Given the description of an element on the screen output the (x, y) to click on. 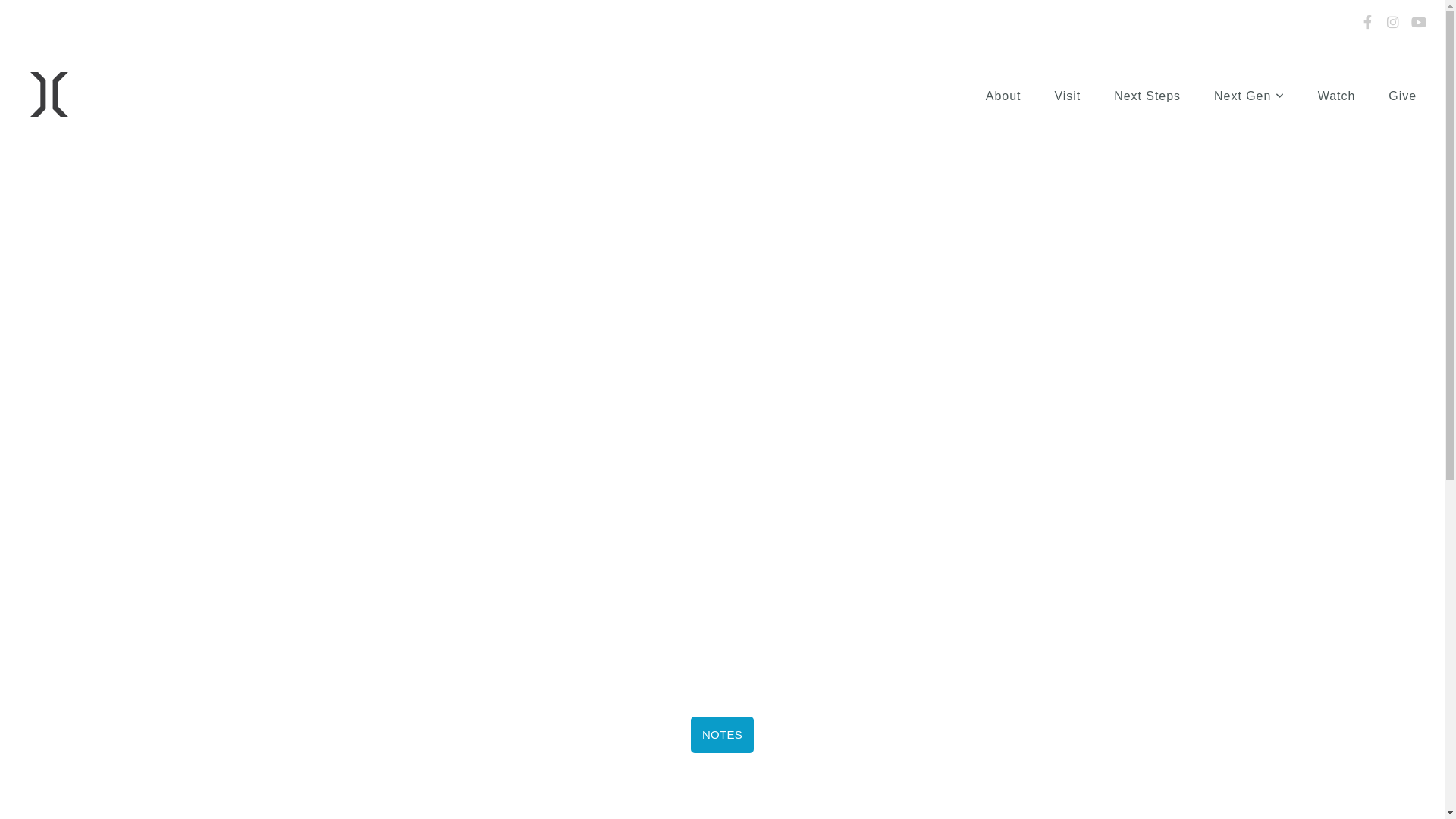
Next Gen  Element type: text (1248, 95)
Watch Element type: text (1336, 95)
Give Element type: text (1402, 95)
Visit Element type: text (1066, 95)
About Element type: text (1003, 95)
Next Steps Element type: text (1146, 95)
NOTES Element type: text (721, 734)
